Given the description of an element on the screen output the (x, y) to click on. 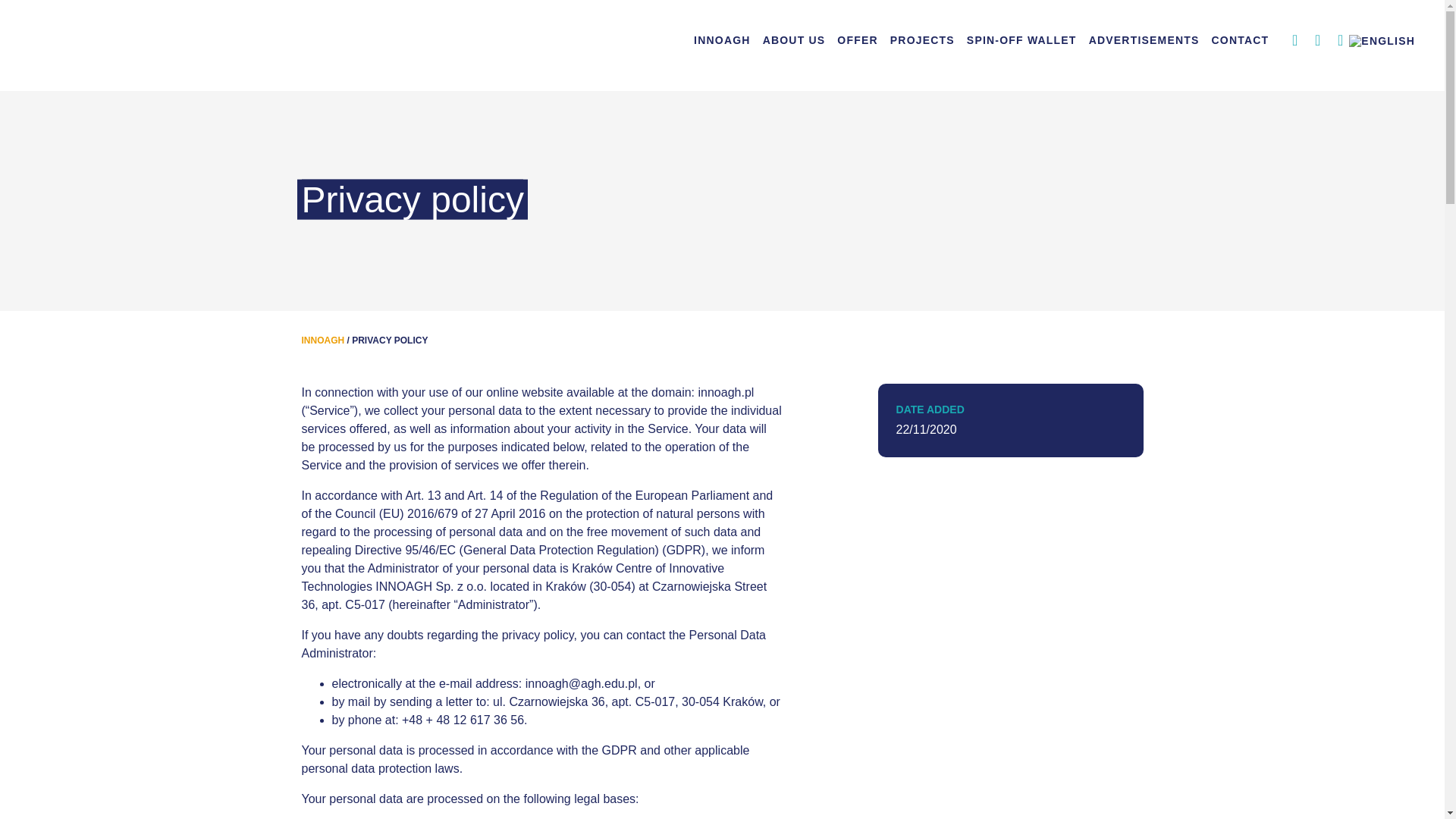
INNOAGH (722, 39)
LINKEDIN (1334, 41)
INNOAGH (323, 339)
ABOUT US (794, 39)
FACEBOOK (1289, 41)
OFFER (857, 39)
YOUTUBE (1312, 41)
SPIN-OFF WALLET (1021, 39)
ADVERTISEMENTS (1144, 39)
English (1381, 40)
